Given the description of an element on the screen output the (x, y) to click on. 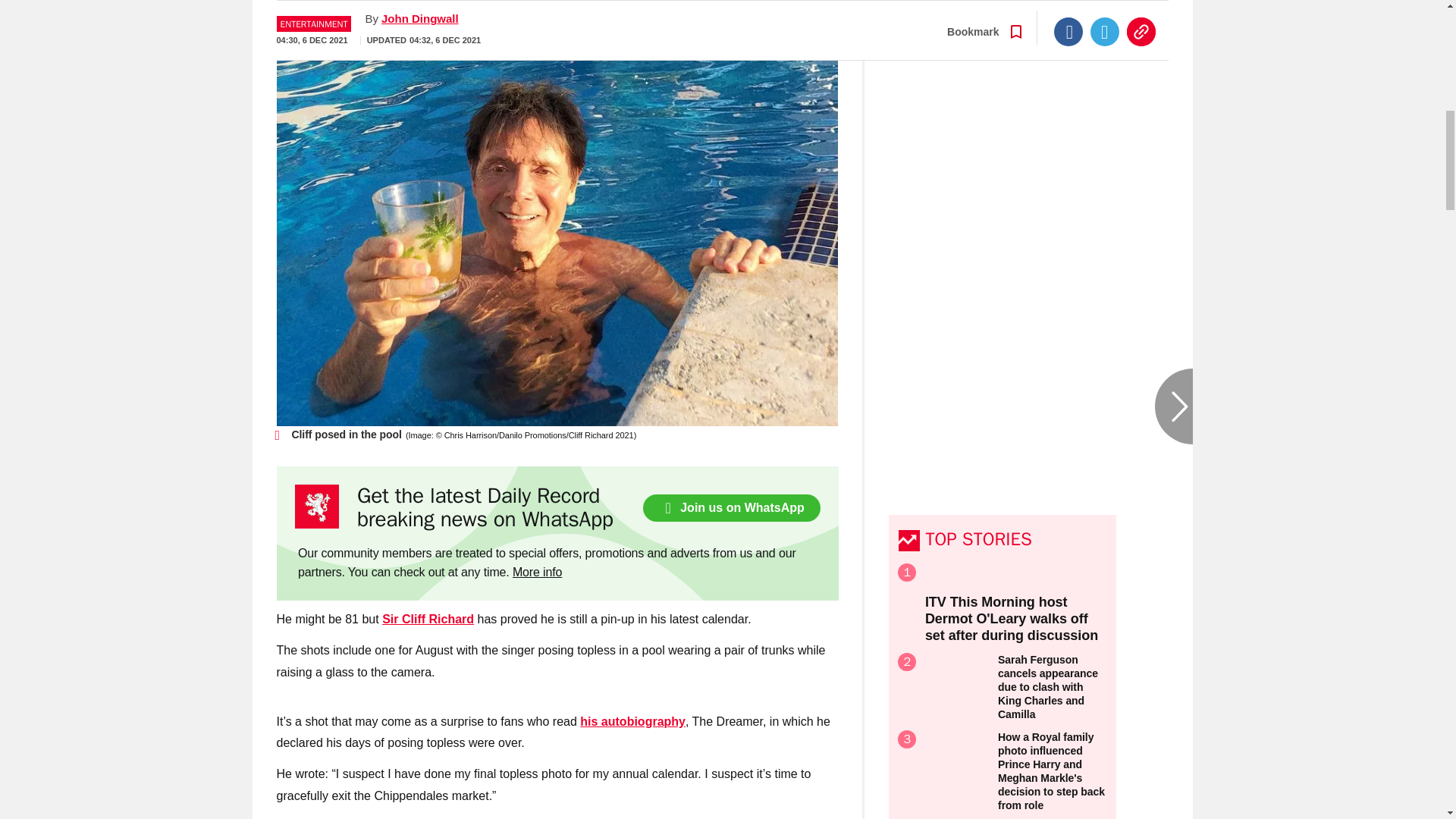
Twitter (1104, 10)
Facebook (1068, 10)
